Given the description of an element on the screen output the (x, y) to click on. 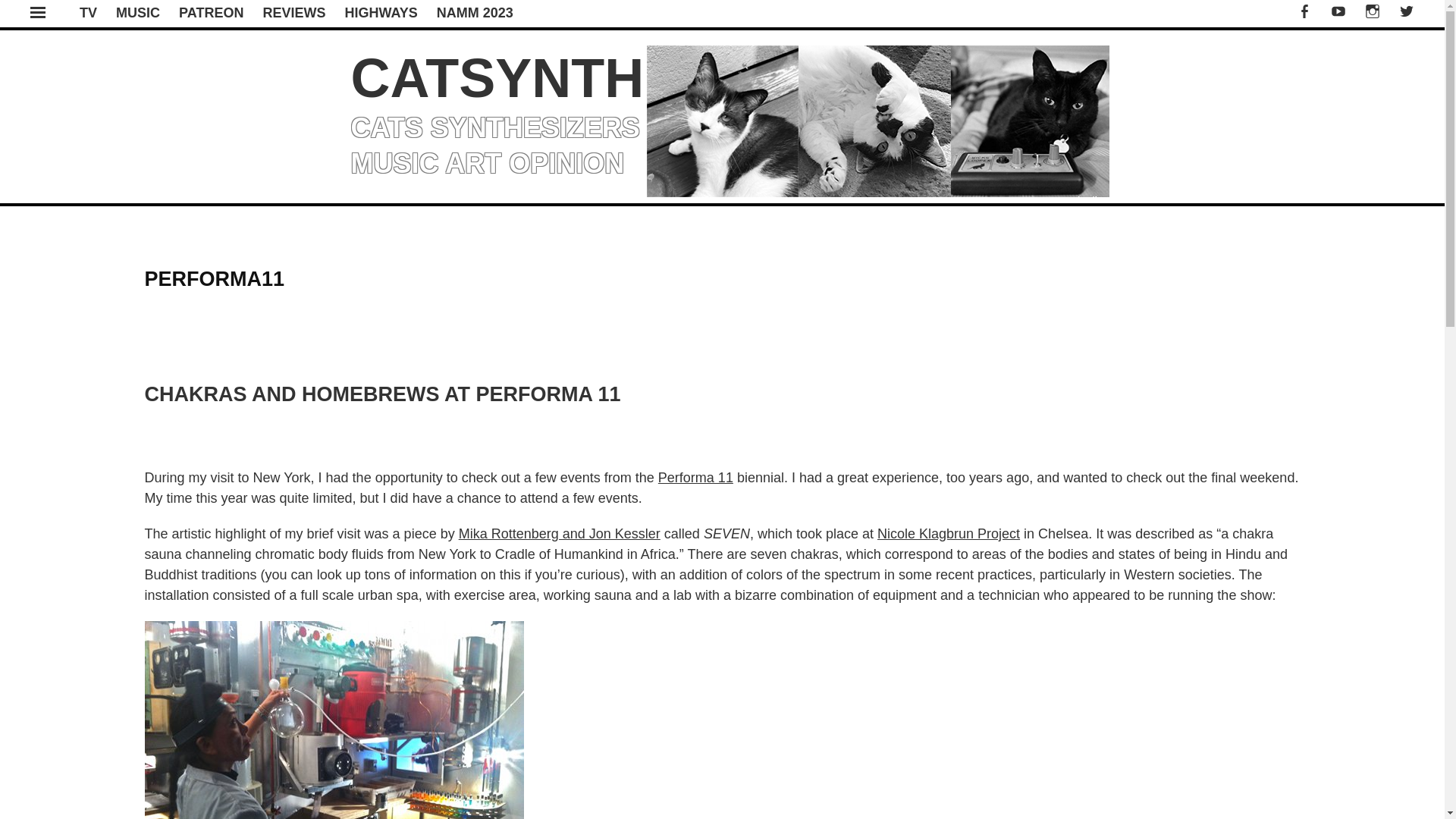
TV (88, 12)
PATREON (211, 12)
NAMM 2023 (474, 12)
REVIEWS (293, 12)
MUSIC (138, 12)
CATSYNTH (496, 77)
HIGHWAYS (379, 12)
